Given the description of an element on the screen output the (x, y) to click on. 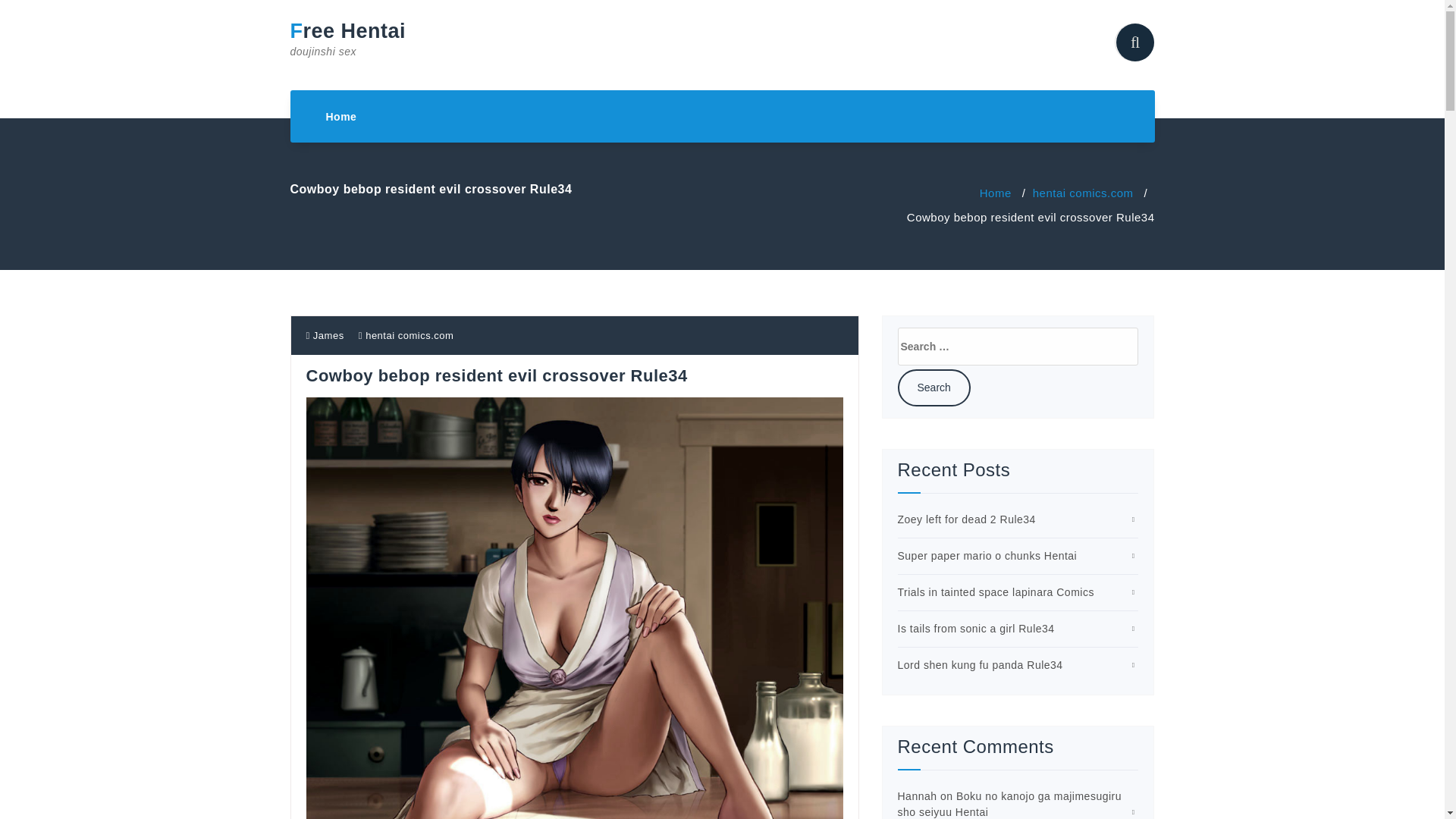
Zoey left for dead 2 Rule34 (966, 519)
James (352, 38)
hentai comics.com (324, 335)
Is tails from sonic a girl Rule34 (1083, 192)
Super paper mario o chunks Hentai (976, 628)
Search (987, 555)
Home (934, 387)
hentai comics.com (341, 116)
Home (408, 335)
Home (995, 192)
Search (341, 116)
Boku no kanojo ga majimesugiru sho seiyuu Hentai (934, 387)
Search (1010, 804)
Trials in tainted space lapinara Comics (934, 387)
